Given the description of an element on the screen output the (x, y) to click on. 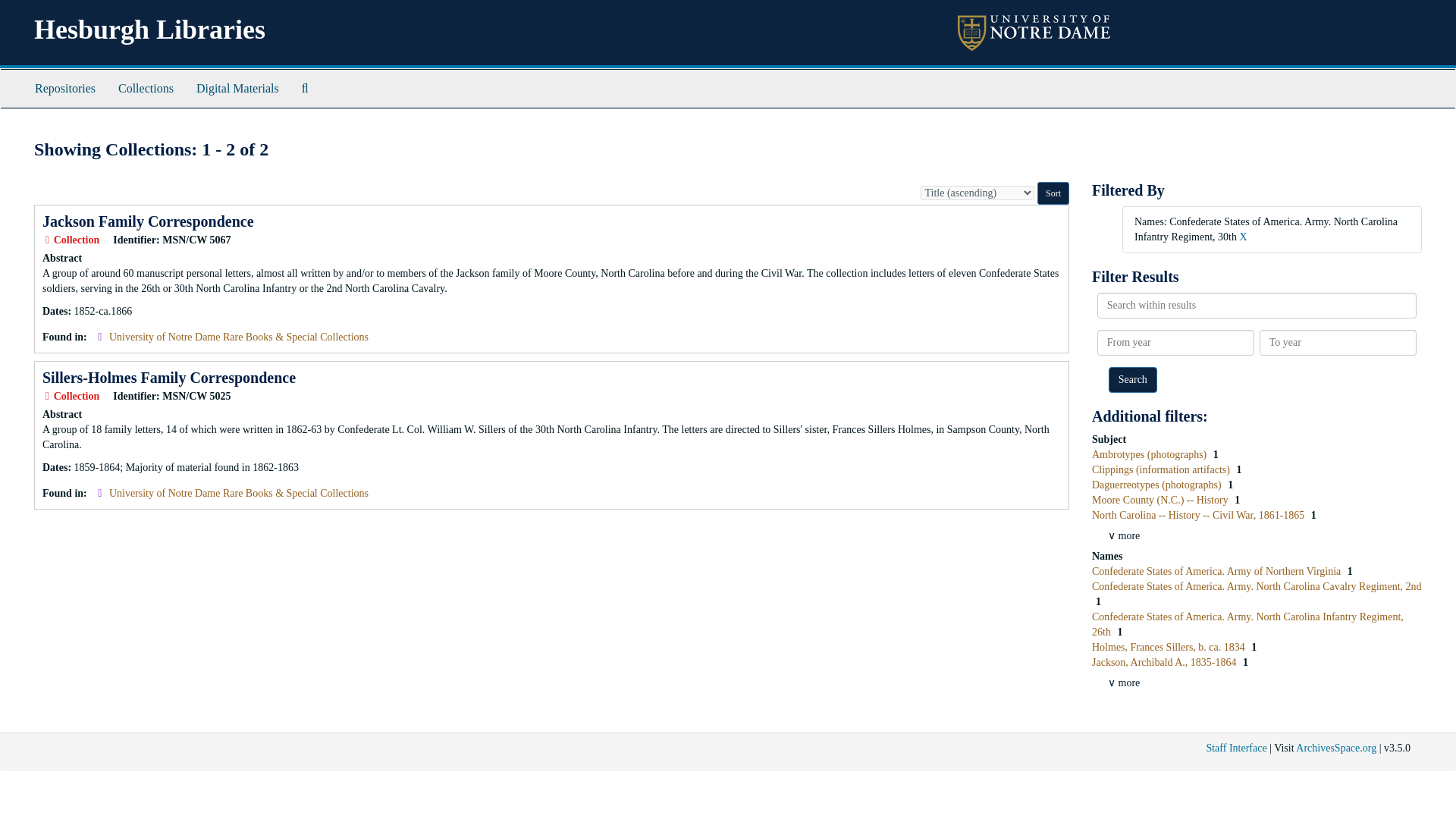
Holmes, Frances Sillers, b. ca. 1834 (1169, 646)
Jackson, Archibald A., 1835-1864 (1165, 662)
Sort (1052, 192)
Sort (1052, 192)
Filter By 'Jackson, Archibald A., 1835-1864' (1165, 662)
Search (1132, 379)
Digital Materials (236, 88)
Return to the ArchivesSpace homepage (148, 29)
Filter By 'Holmes, Frances Sillers, b. ca. 1834' (1169, 646)
